Given the description of an element on the screen output the (x, y) to click on. 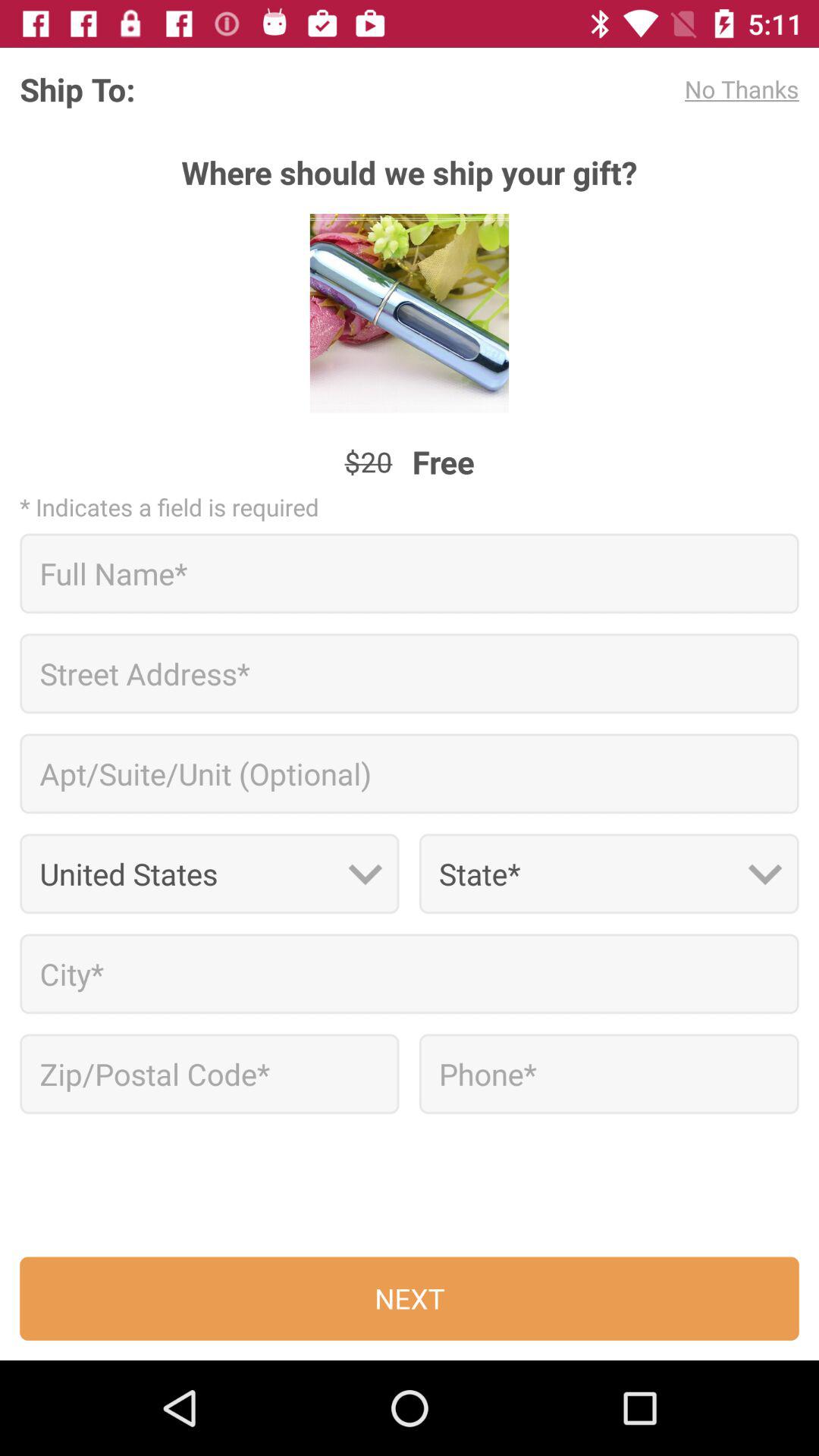
select form field (409, 973)
